Given the description of an element on the screen output the (x, y) to click on. 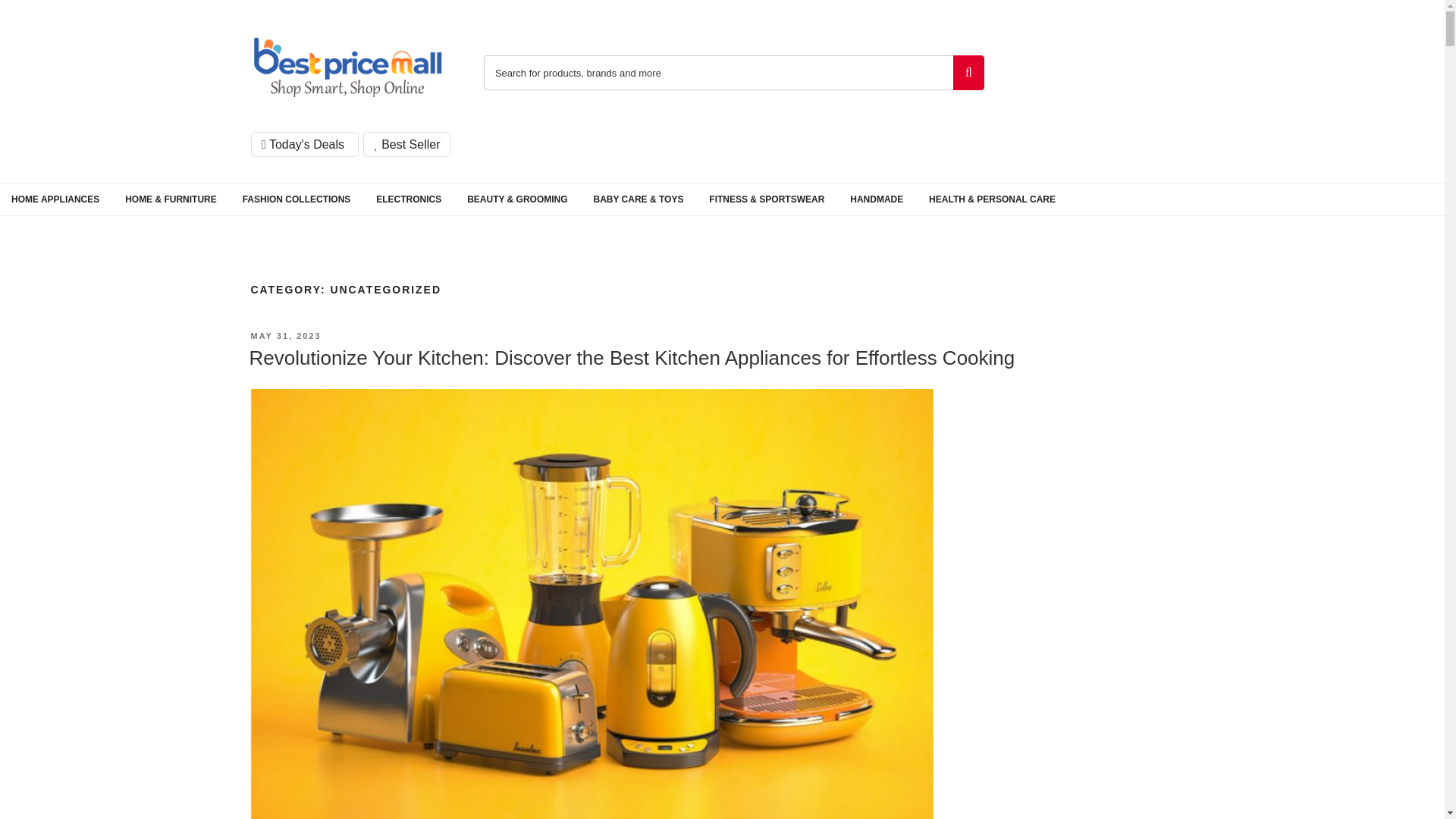
Today's Deals (304, 144)
HOME APPLIANCES (55, 199)
MAY 31, 2023 (285, 335)
Best Seller (406, 144)
ELECTRONICS (408, 199)
HANDMADE (876, 199)
FASHION COLLECTIONS (296, 199)
